Given the description of an element on the screen output the (x, y) to click on. 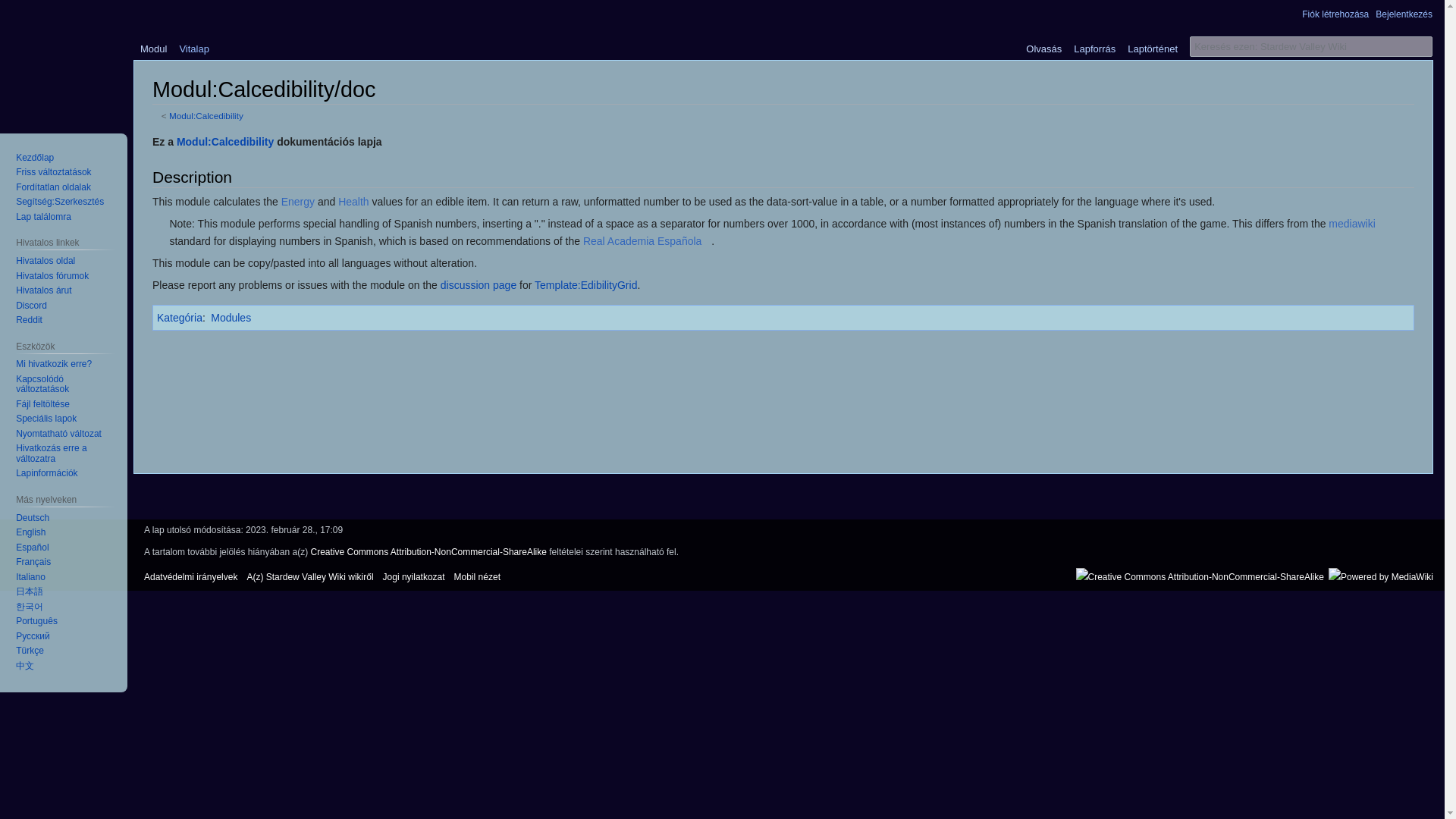
mediawiki (1355, 223)
Template:EdibilityGrid (585, 285)
Vitalap (194, 45)
Sablon:EdibilityGrid (585, 285)
en:Energy (297, 201)
Energy (297, 201)
Modul:Calcedibility (224, 141)
discussion page (478, 285)
Menj (1422, 46)
Modul:Calcedibility (205, 115)
Modul:Calcedibility (224, 141)
Mi hivatkozik erre? (53, 363)
Sablonvita:EdibilityGrid (478, 285)
Modul:Calcedibility (205, 115)
Hivatalos oldal (45, 260)
